Given the description of an element on the screen output the (x, y) to click on. 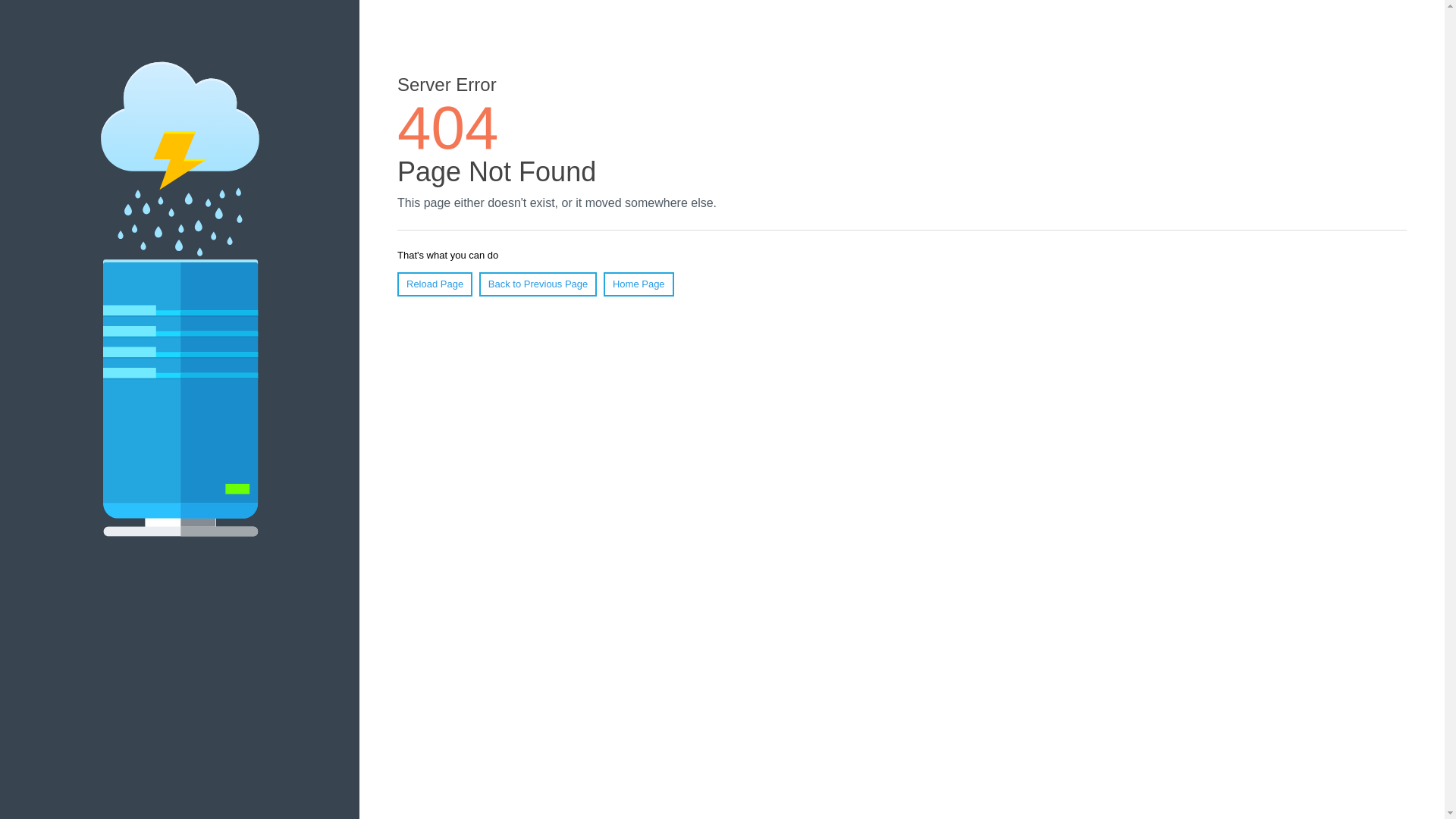
Home Page Element type: text (638, 284)
Back to Previous Page Element type: text (538, 284)
Reload Page Element type: text (434, 284)
